Given the description of an element on the screen output the (x, y) to click on. 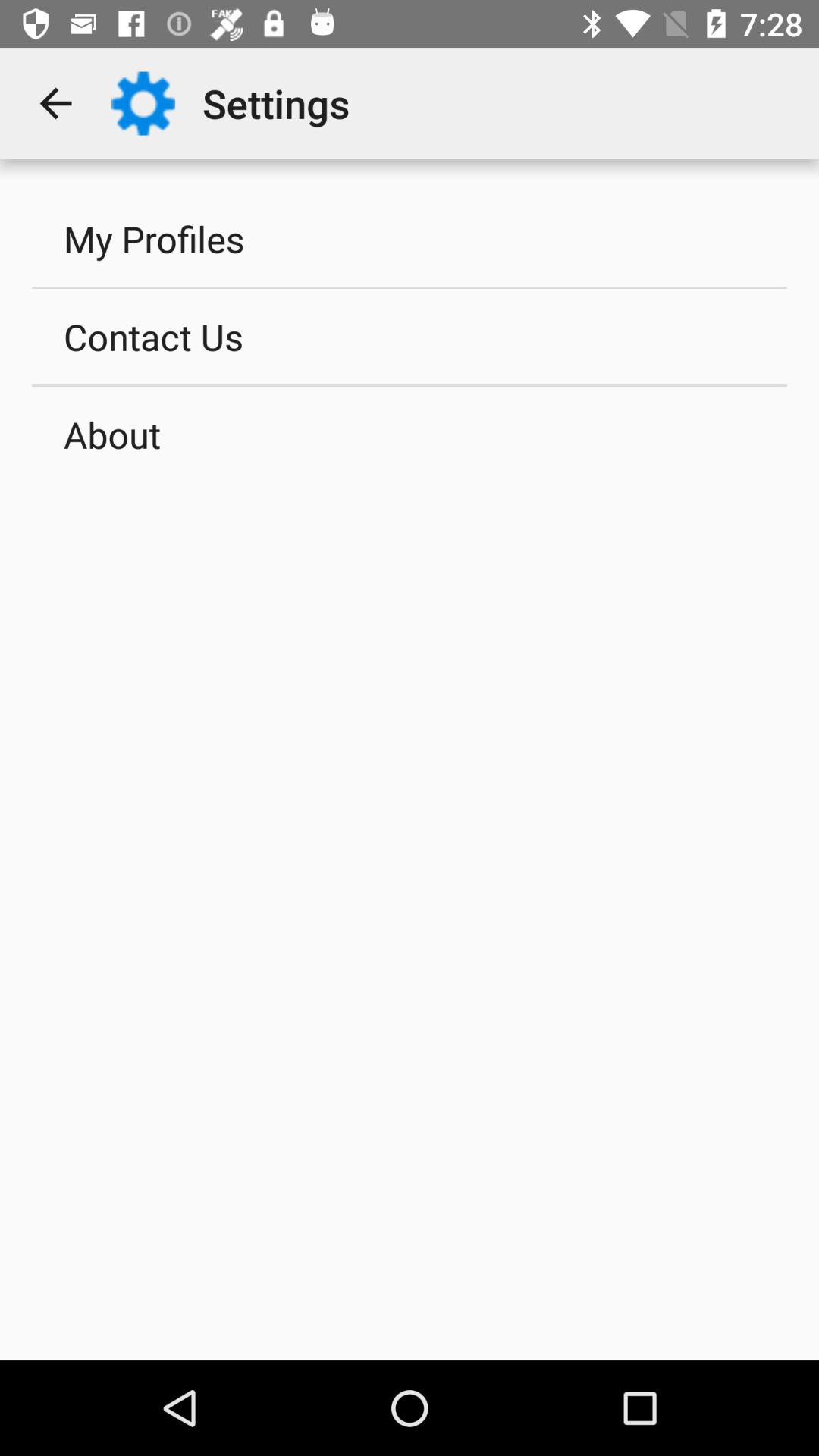
launch the about icon (409, 434)
